Given the description of an element on the screen output the (x, y) to click on. 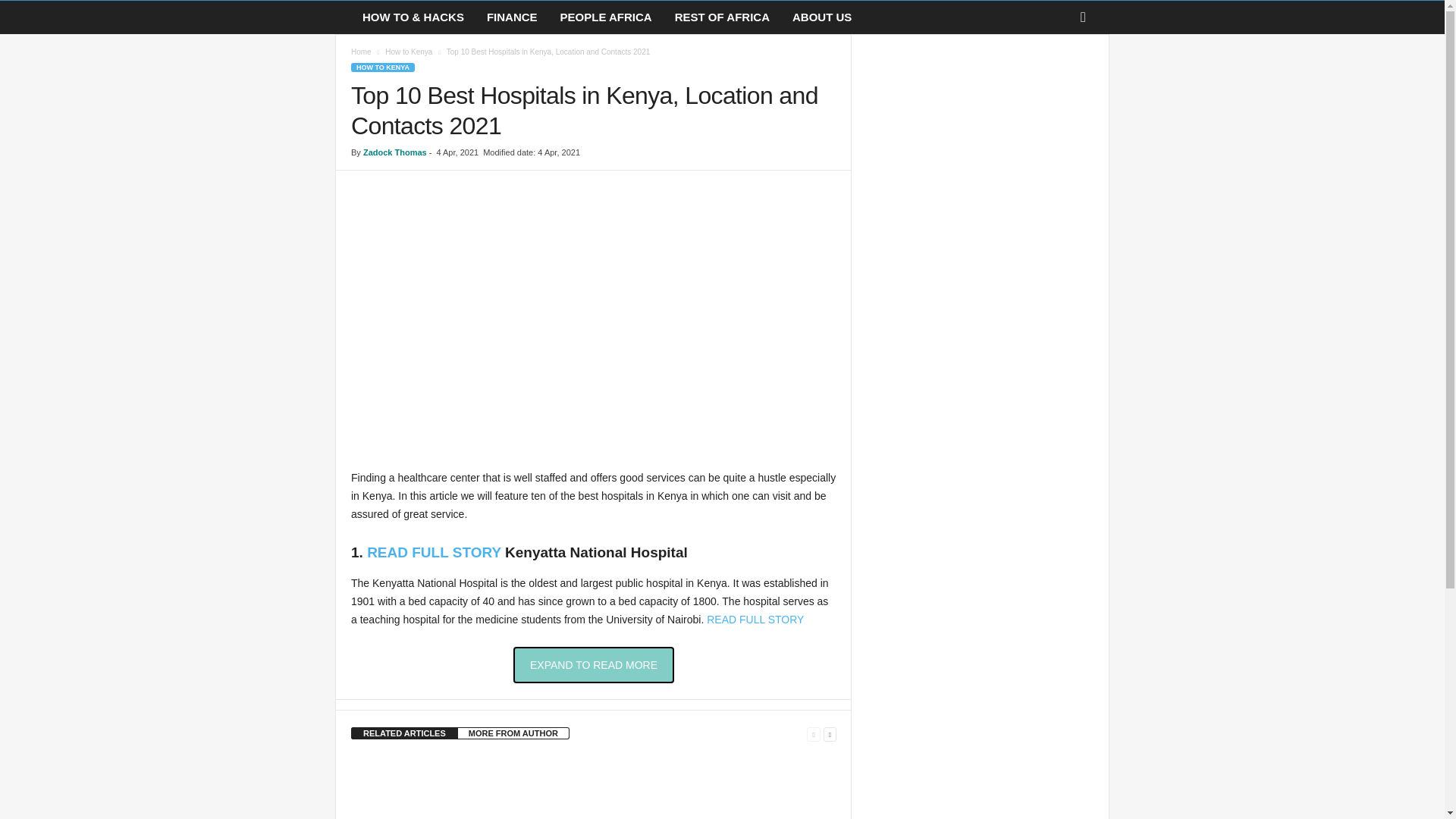
REST OF AFRICA (721, 17)
HOW TO KENYA (382, 67)
Zadock Thomas (394, 152)
ABOUT US (821, 17)
How to Kenya (408, 51)
READ FULL STORY (754, 619)
PEOPLE AFRICA (605, 17)
Home (360, 51)
View all posts in How to Kenya (408, 51)
